Given the description of an element on the screen output the (x, y) to click on. 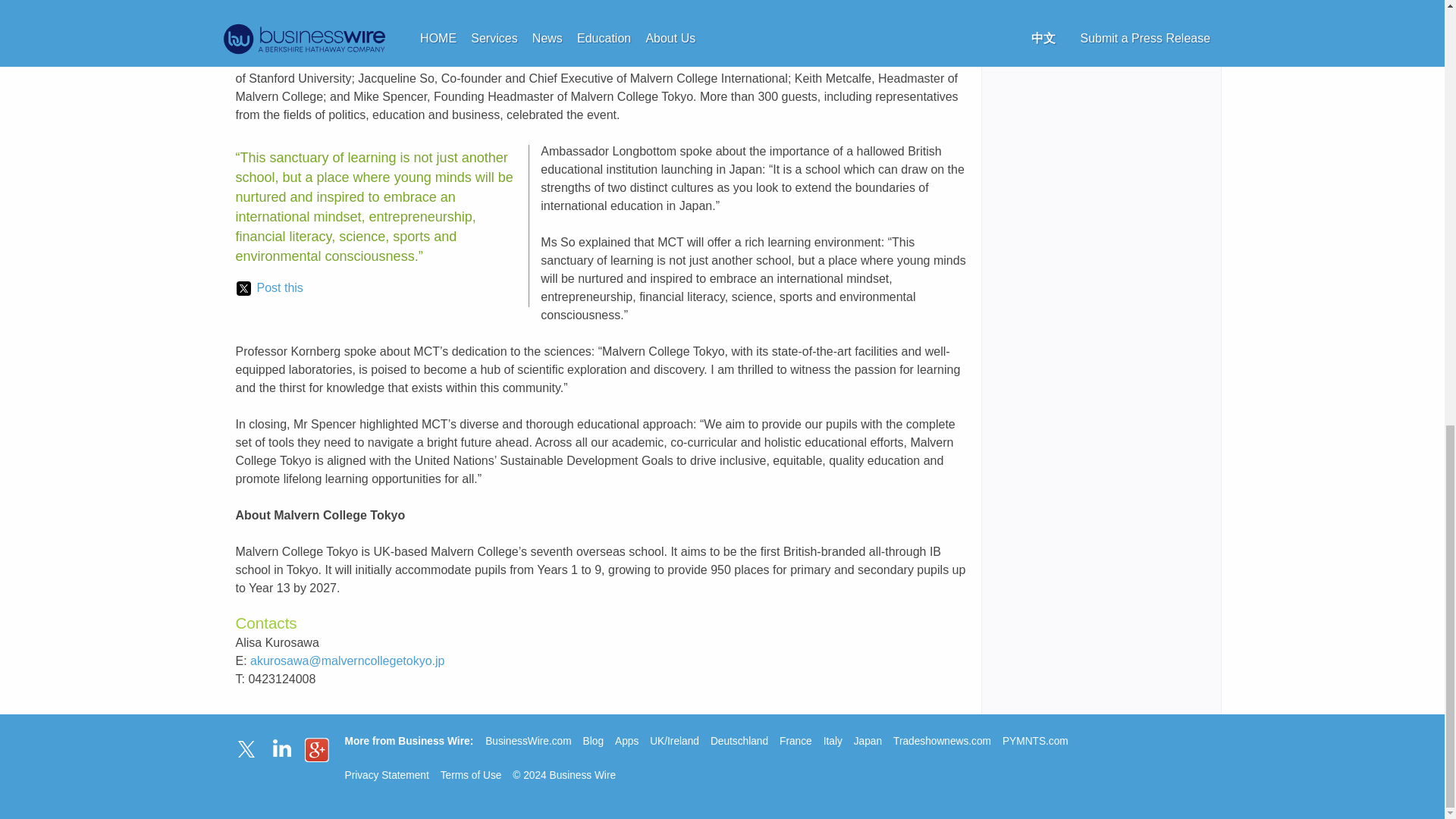
Post this (269, 287)
BUSINESS WIRE (337, 23)
